Given the description of an element on the screen output the (x, y) to click on. 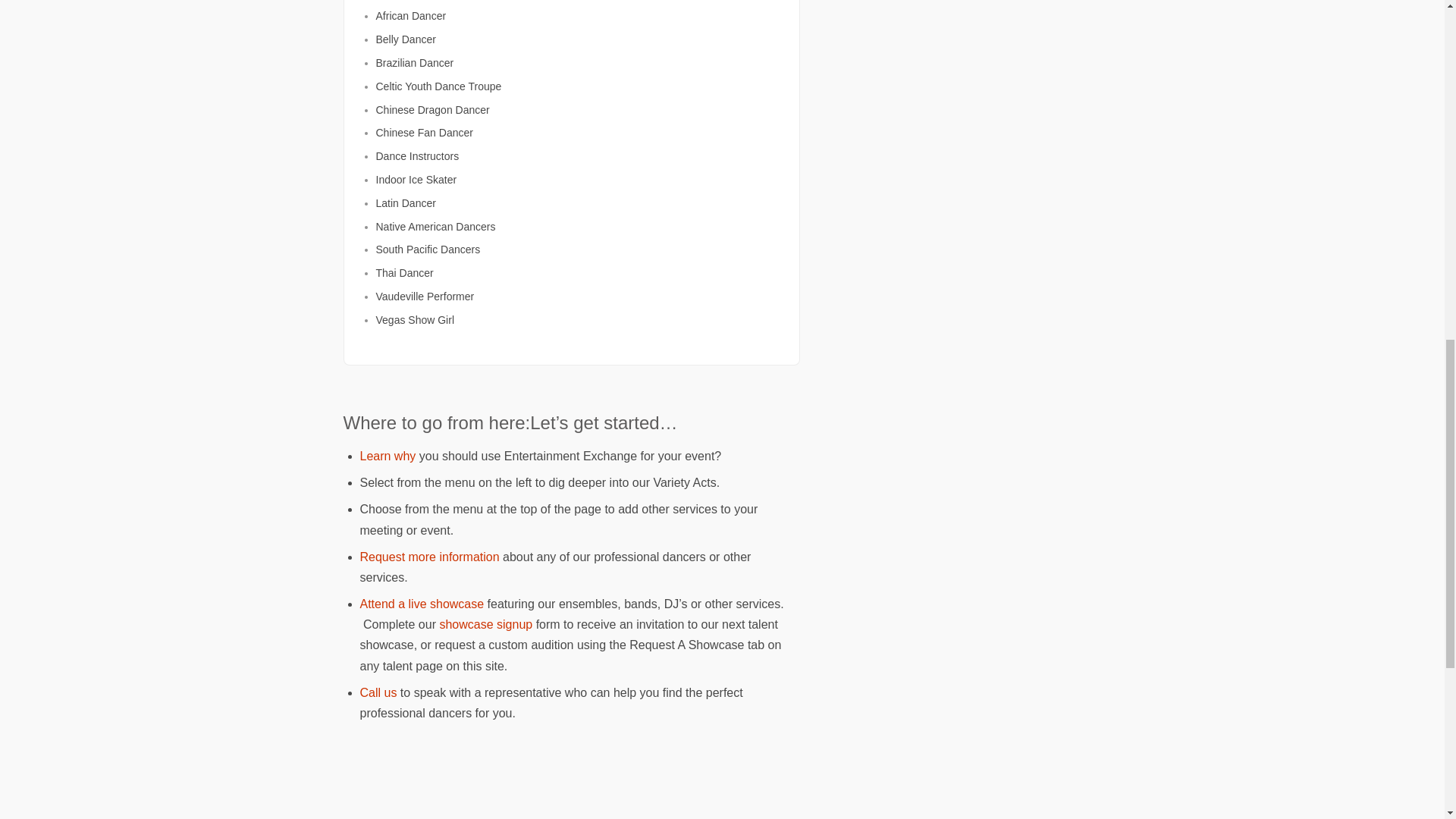
Thai Dancer (404, 272)
Vaudeville Performer (424, 296)
South Pacific Dancers (427, 249)
African Dancer (410, 15)
Celtic Youth Dance Troupe (438, 86)
Attend a live showcase (421, 603)
Latin Dancer (405, 203)
Belly Dancer (405, 39)
Chinese Dragon Dancer (432, 110)
Learn why (386, 455)
African Dancer (410, 15)
Chinese Fan Dancer (424, 132)
Native American Dancers (435, 226)
Vegas Show Girl (414, 319)
Latin Dancer (405, 203)
